Given the description of an element on the screen output the (x, y) to click on. 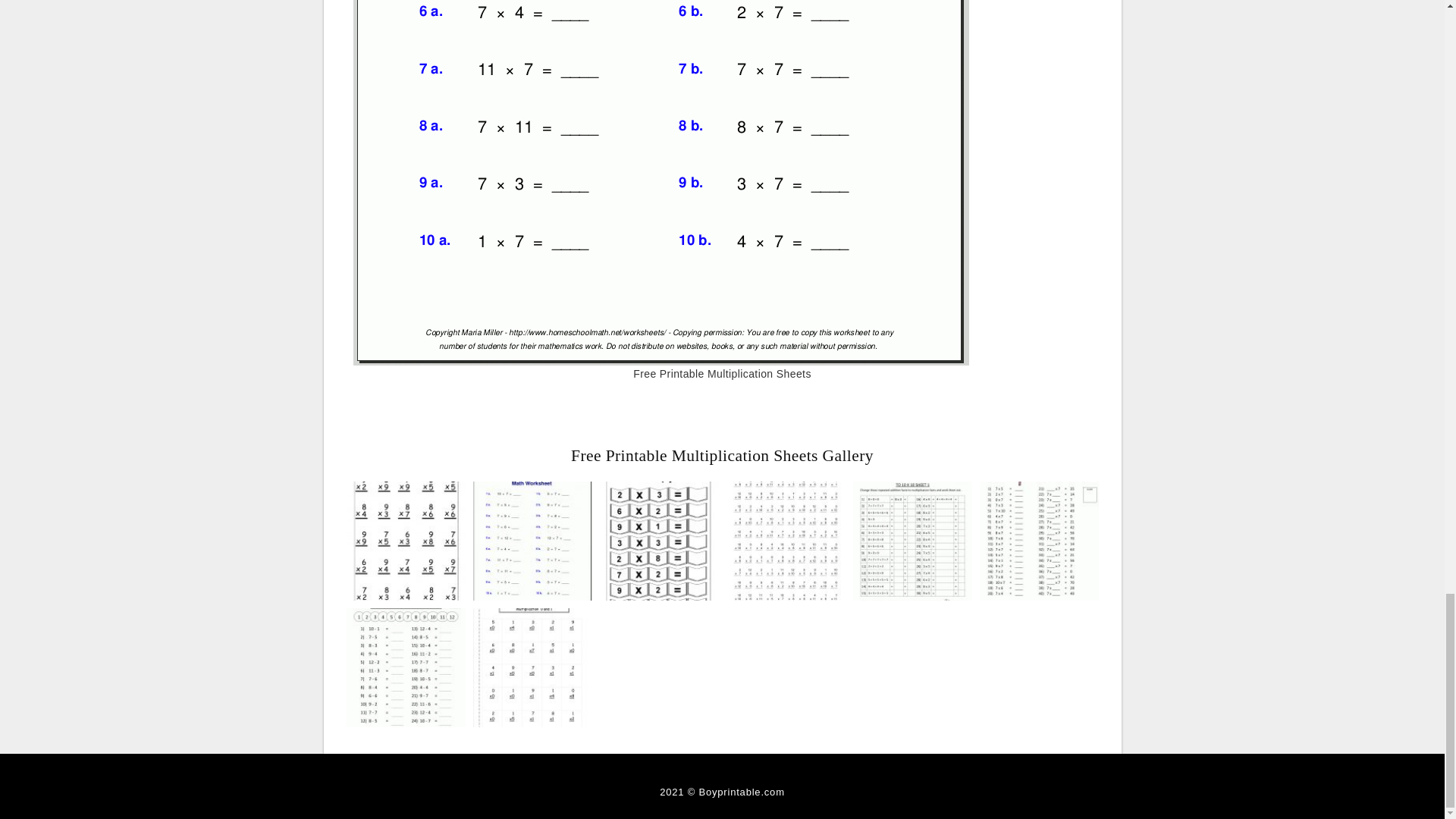
Free Math Worksheets   Free Printable Multiplication Sheets (532, 539)
Boyprintable.com (741, 791)
